Given the description of an element on the screen output the (x, y) to click on. 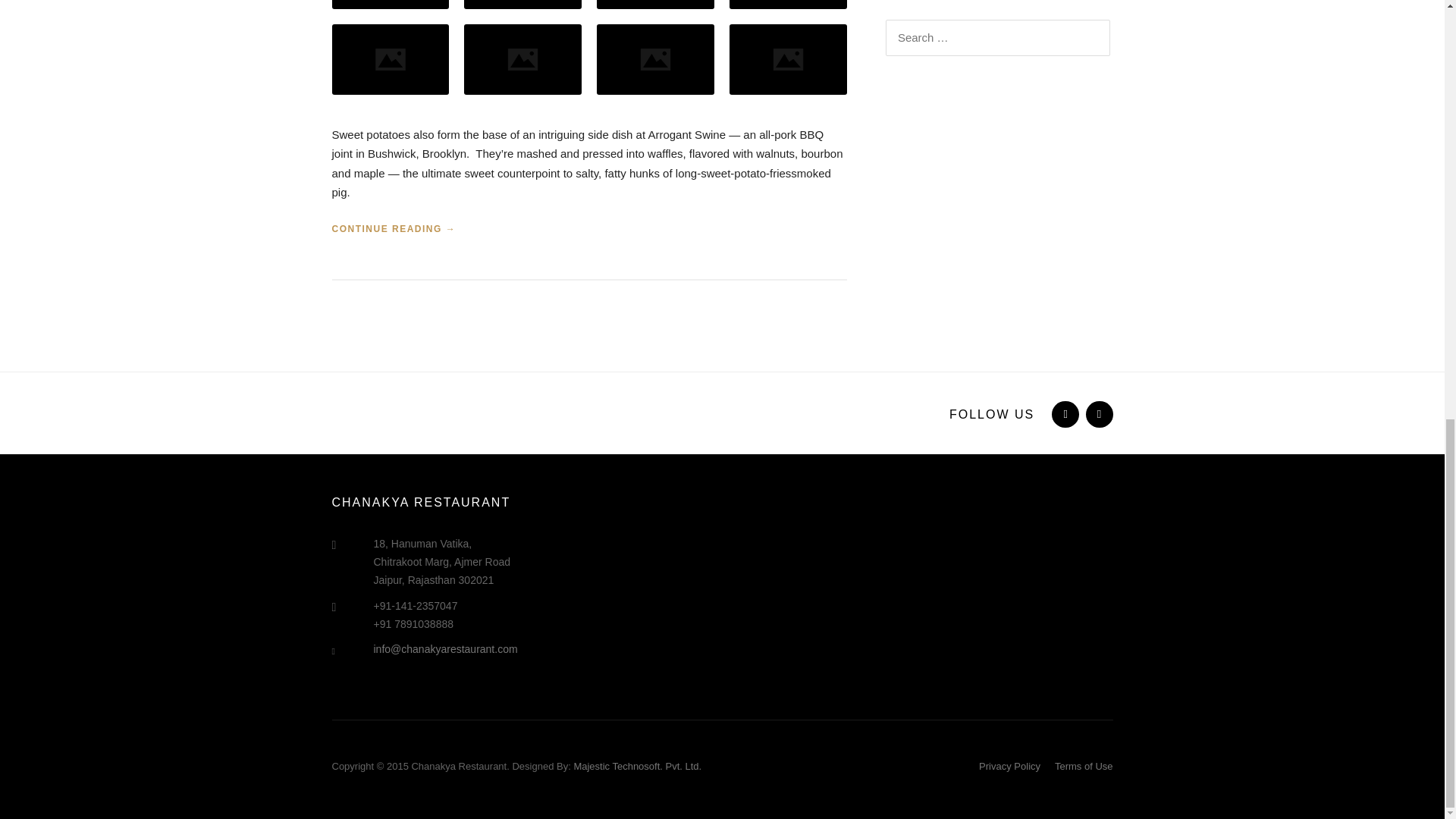
Instagram (1098, 413)
Majestic Technosoft. Pvt. Ltd. (637, 766)
Facebook (1063, 413)
